Given the description of an element on the screen output the (x, y) to click on. 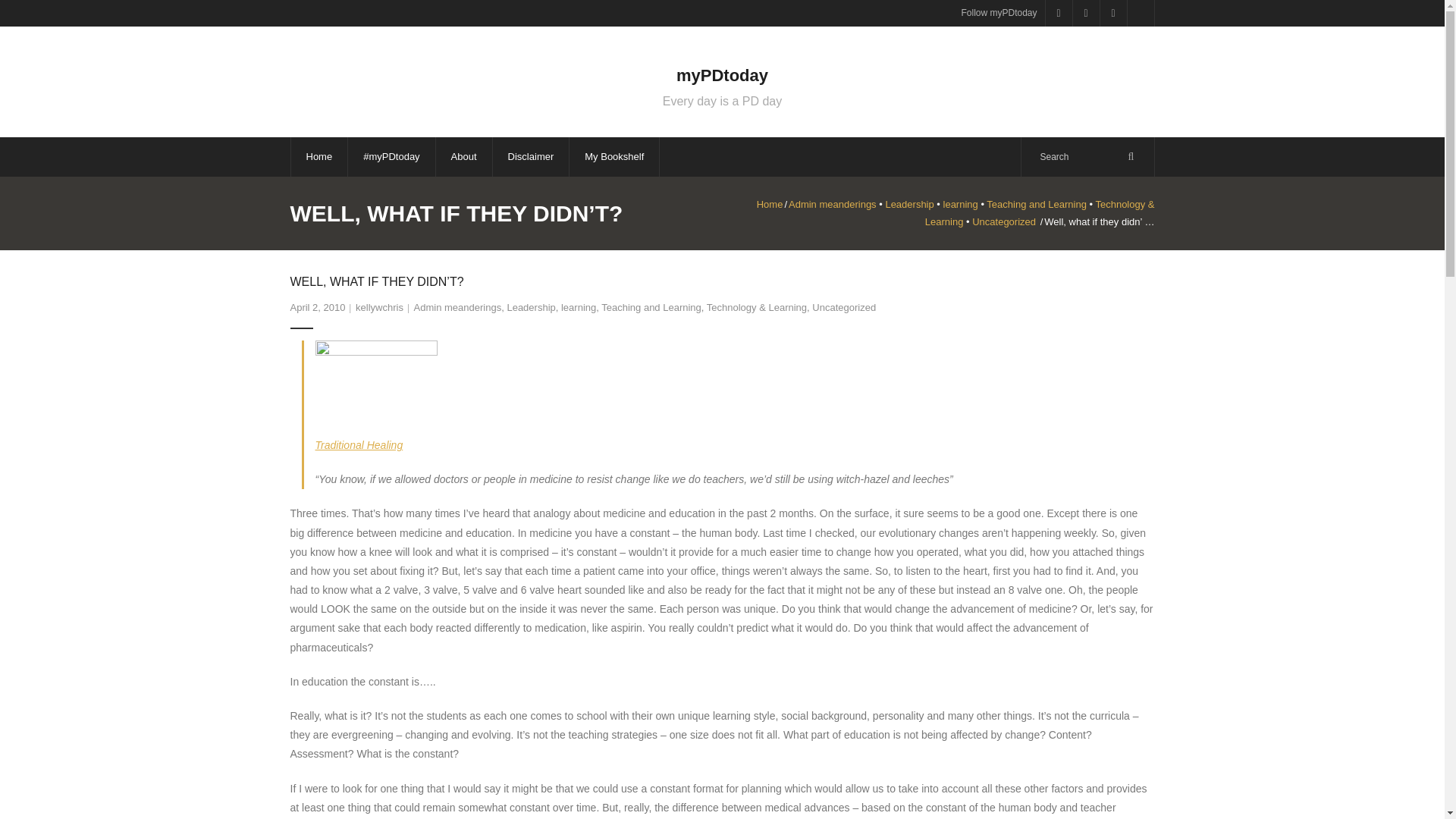
Home (770, 204)
Uncategorized (1003, 221)
kellywchris (379, 307)
Traditional Healing (359, 444)
My Bookshelf (614, 156)
About (721, 81)
Every day is a PD day (463, 156)
Teaching and Learning (721, 101)
learning (1036, 204)
